Given the description of an element on the screen output the (x, y) to click on. 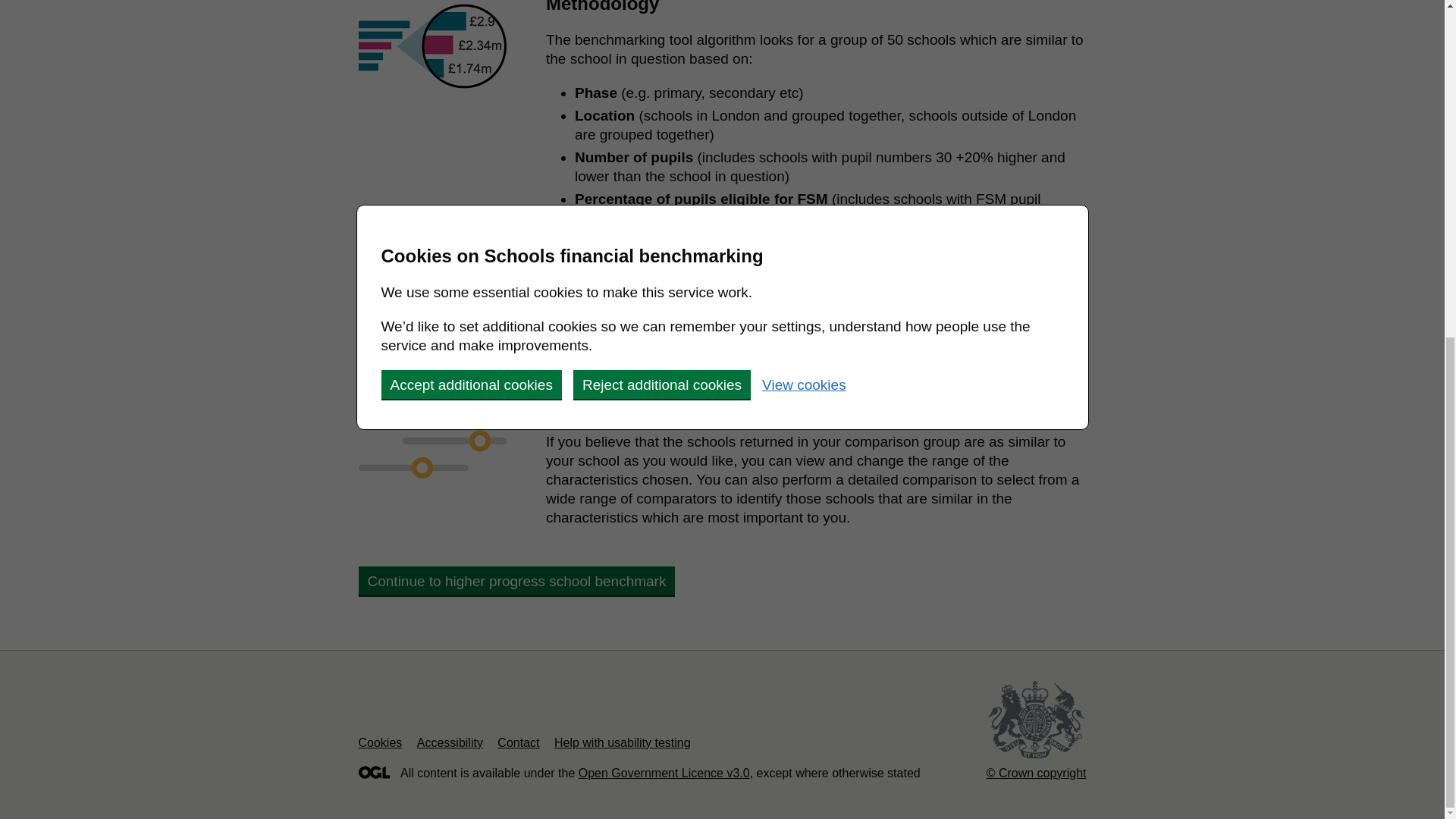
Help with usability testing (622, 742)
Accessibility (449, 742)
Open Government Licence v3.0 (663, 772)
Continue to higher progress school benchmark (516, 580)
Cookies (379, 742)
Contact (517, 742)
